Given the description of an element on the screen output the (x, y) to click on. 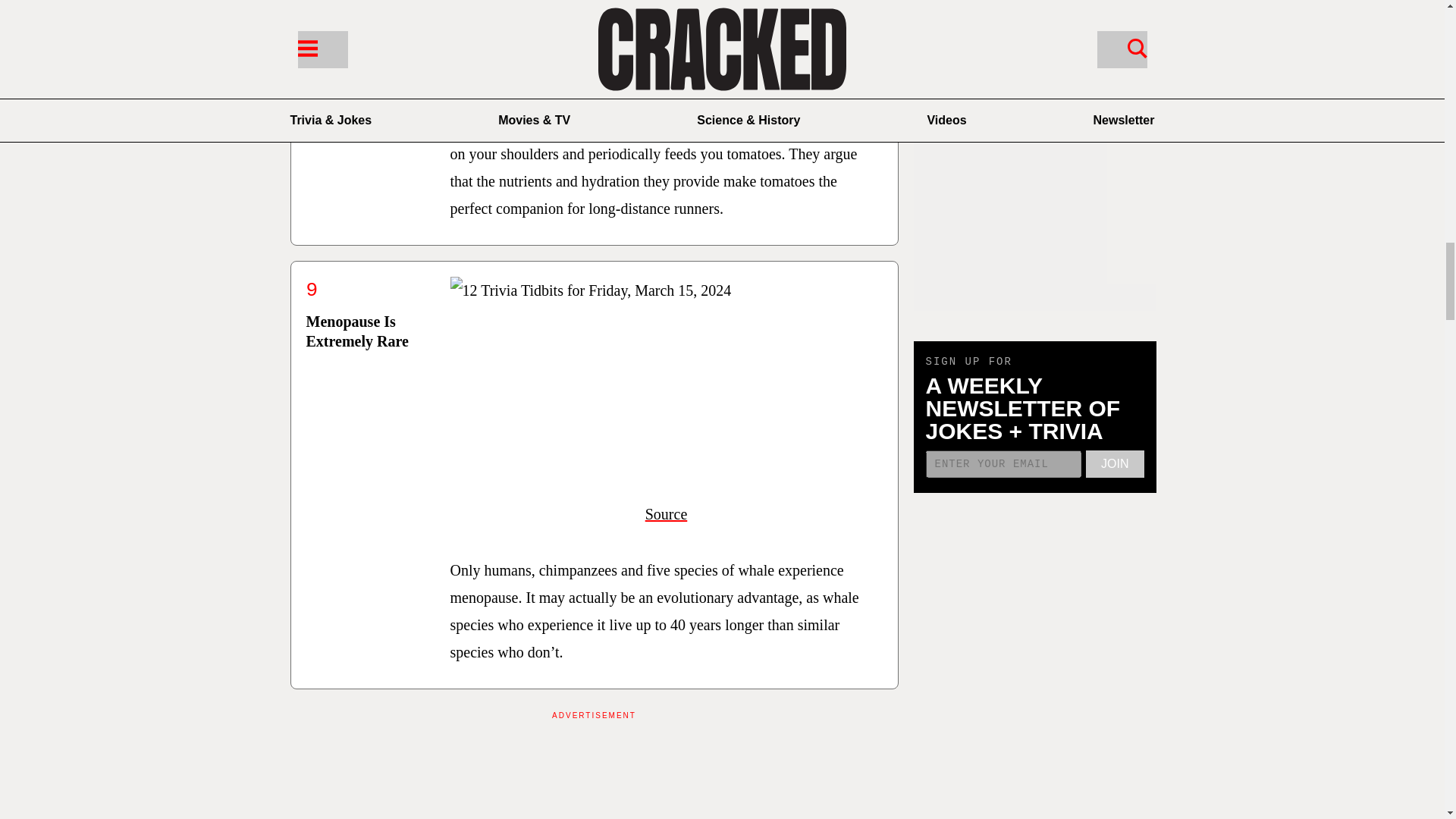
Source (666, 70)
Source (666, 514)
